Given the description of an element on the screen output the (x, y) to click on. 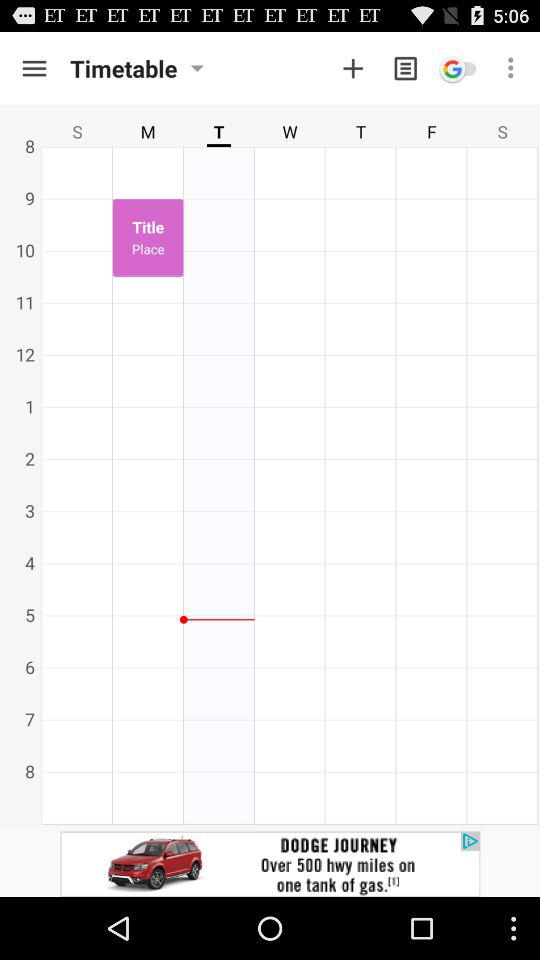
advertisement box (270, 864)
